Given the description of an element on the screen output the (x, y) to click on. 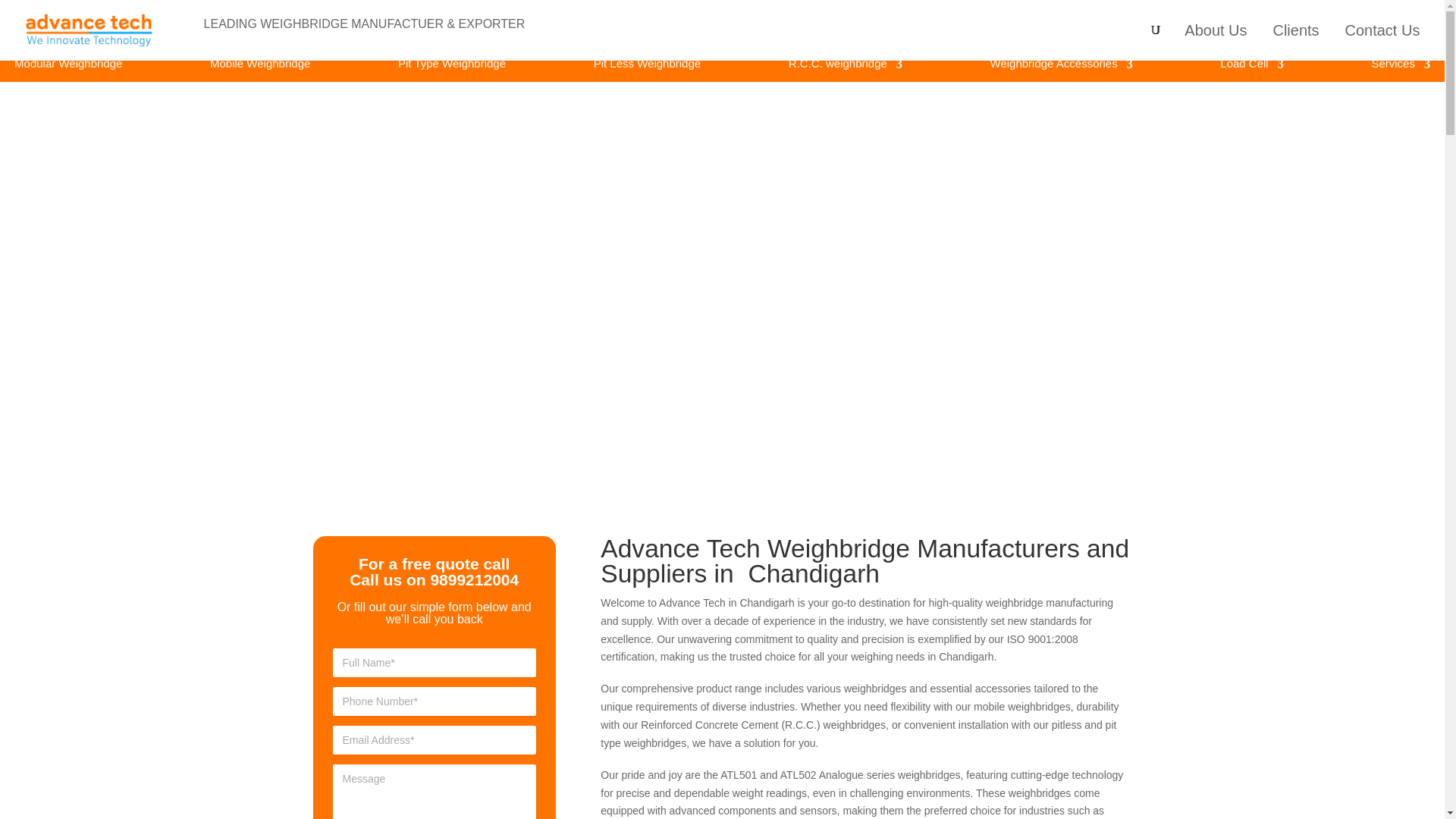
Load Cell (1251, 63)
Mobile Weighbridge (259, 63)
Modular Weighbridge (68, 63)
Weighbridge Accessories (1061, 63)
Services (1400, 63)
About Us (1215, 42)
9899212004 (473, 579)
Clients (1295, 42)
Contact Us (1381, 42)
R.C.C. weighbridge (845, 63)
